Given the description of an element on the screen output the (x, y) to click on. 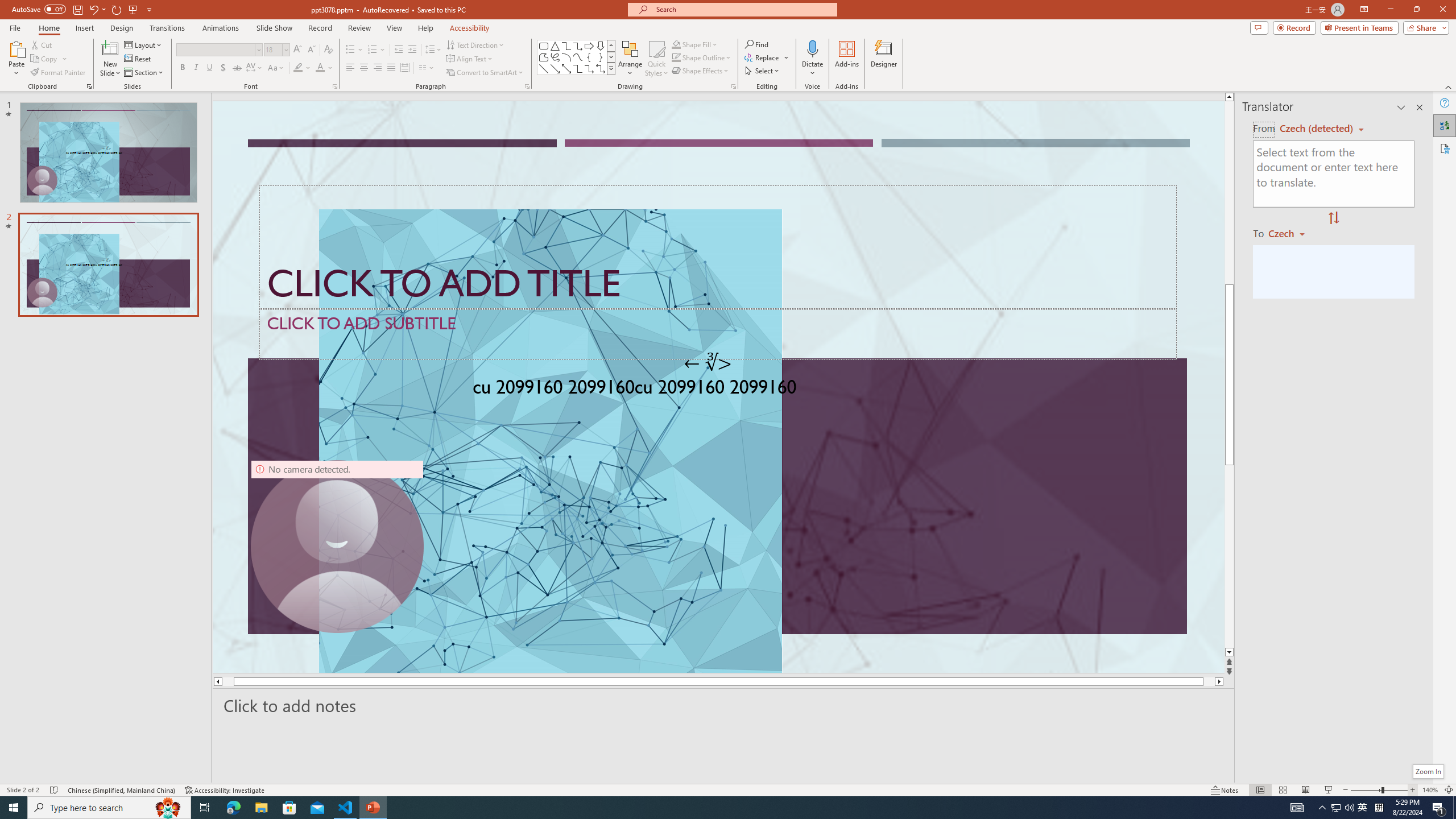
TextBox 61 (717, 389)
